Given the description of an element on the screen output the (x, y) to click on. 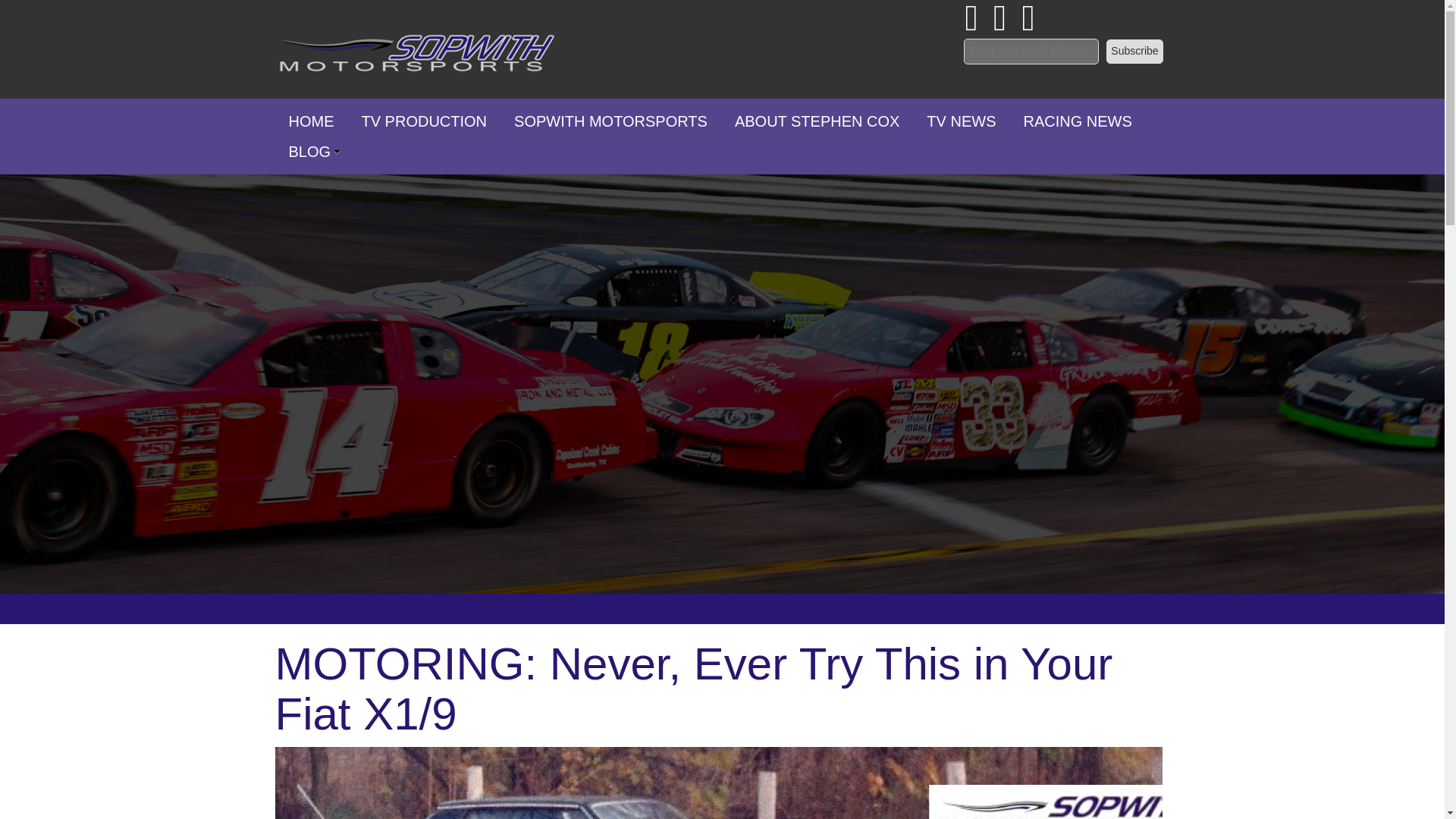
BLOG (309, 151)
ABOUT STEPHEN COX (816, 121)
HOME (311, 121)
SOPWITH MOTORSPORTS (610, 121)
Subscribe (1133, 51)
Subscribe (1133, 51)
TV NEWS (960, 121)
RACING NEWS (1076, 121)
TV PRODUCTION (423, 121)
